Given the description of an element on the screen output the (x, y) to click on. 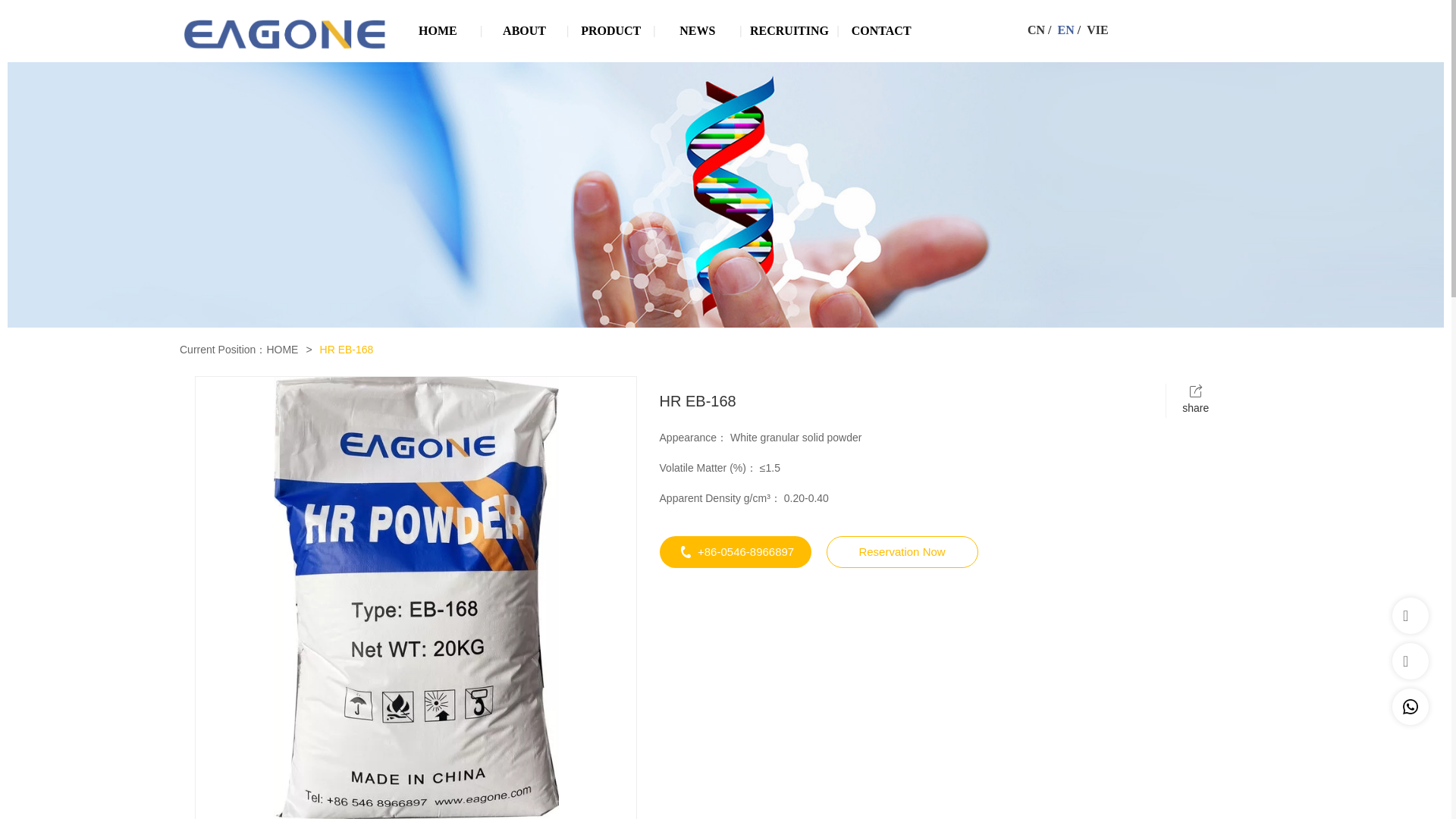
HR EB-168 (347, 349)
HOME (437, 31)
EN (1066, 29)
CONTACT (881, 31)
PRODUCT (610, 31)
HOME (282, 349)
VIE (1097, 29)
CN (1036, 29)
NEWS (697, 31)
ABOUT (524, 31)
RECRUITING (788, 31)
